Given the description of an element on the screen output the (x, y) to click on. 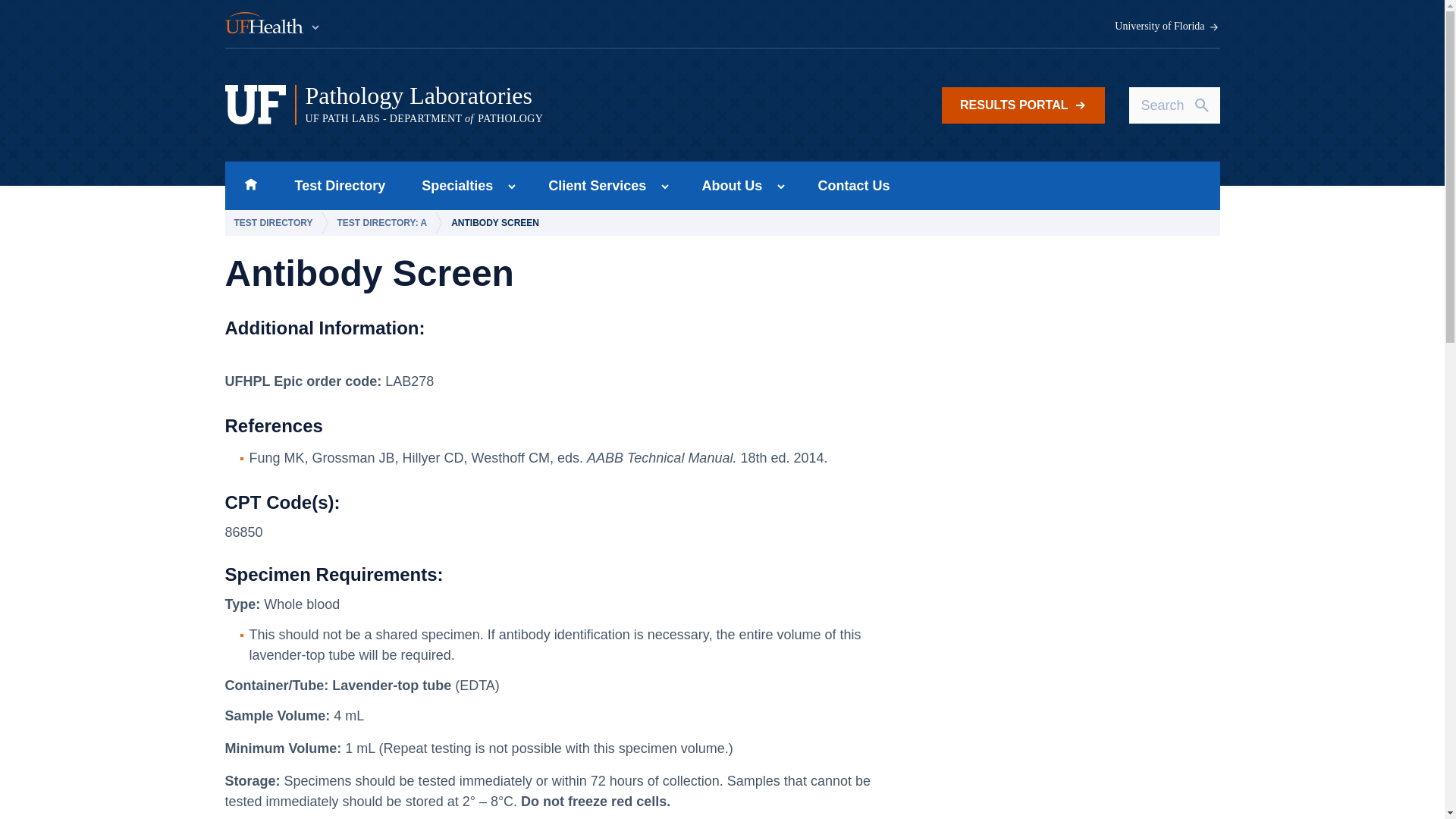
RESULTS PORTAL (1023, 104)
Client Services (592, 185)
Specialties (452, 185)
Test Directory (339, 185)
UF Health (272, 24)
University of Florida (1167, 26)
Home (250, 185)
